Given the description of an element on the screen output the (x, y) to click on. 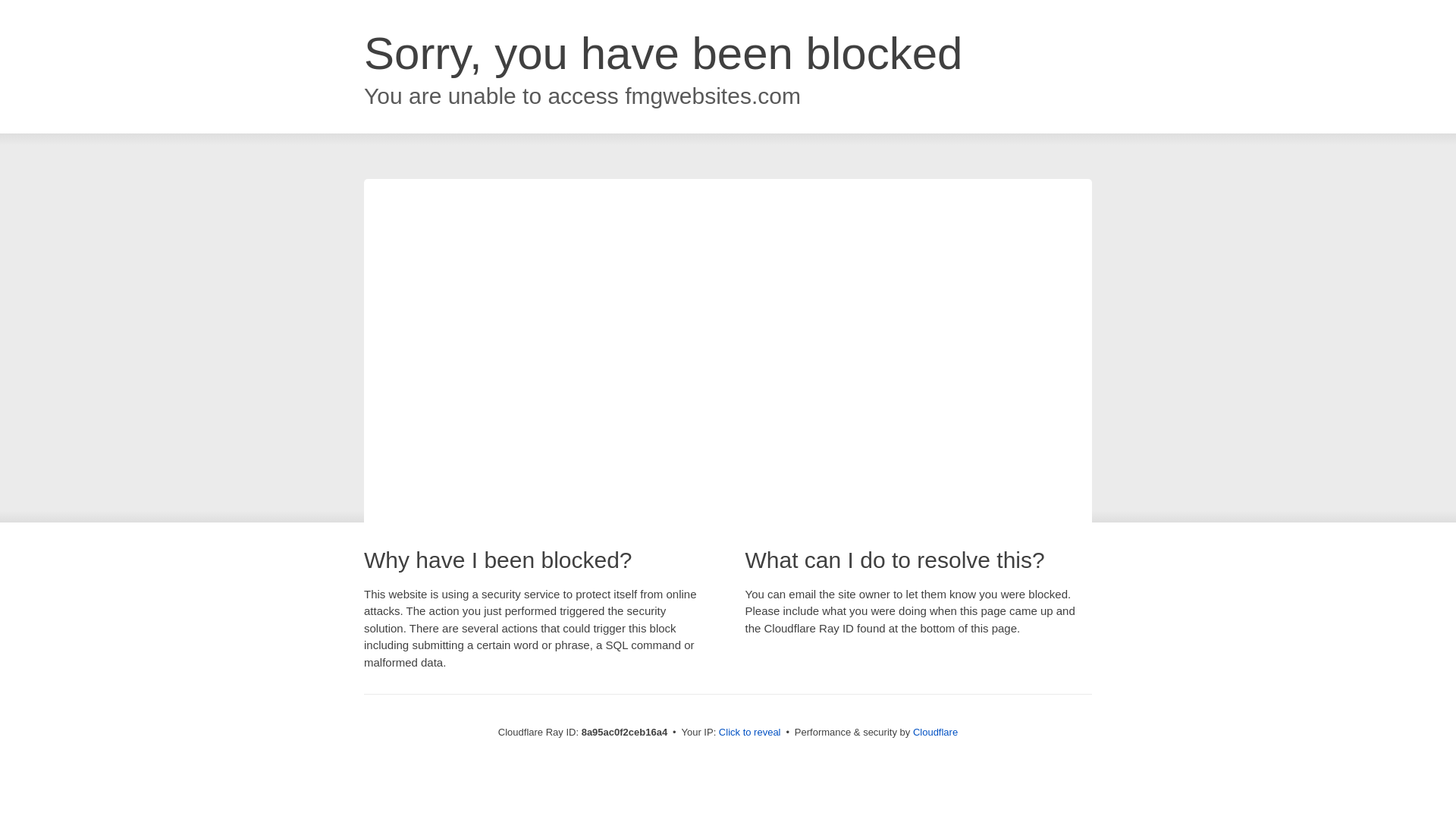
Cloudflare (935, 731)
Click to reveal (749, 732)
